Given the description of an element on the screen output the (x, y) to click on. 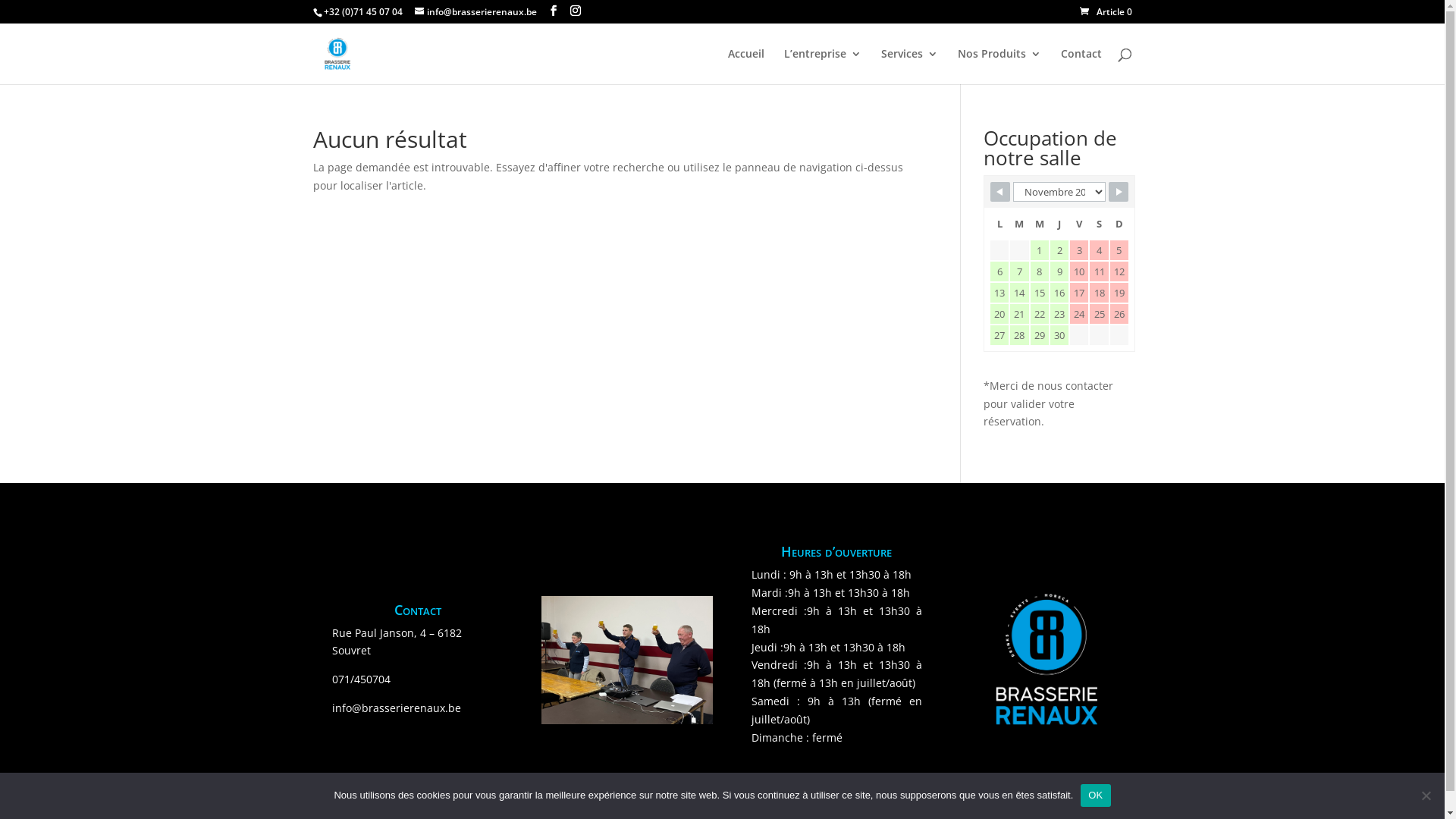
Services Element type: text (909, 66)
IMG_1250 Element type: hover (626, 660)
Contact Element type: text (1080, 66)
Nos Produits Element type: text (998, 66)
Accueil Element type: text (746, 66)
Article 0 Element type: text (1105, 11)
Non Element type: hover (1425, 795)
OK Element type: text (1095, 795)
info@brasserierenaux.be Element type: text (475, 11)
BR_LOGO_BLUE-WHITE_VERTICAL Element type: hover (1045, 659)
